Given the description of an element on the screen output the (x, y) to click on. 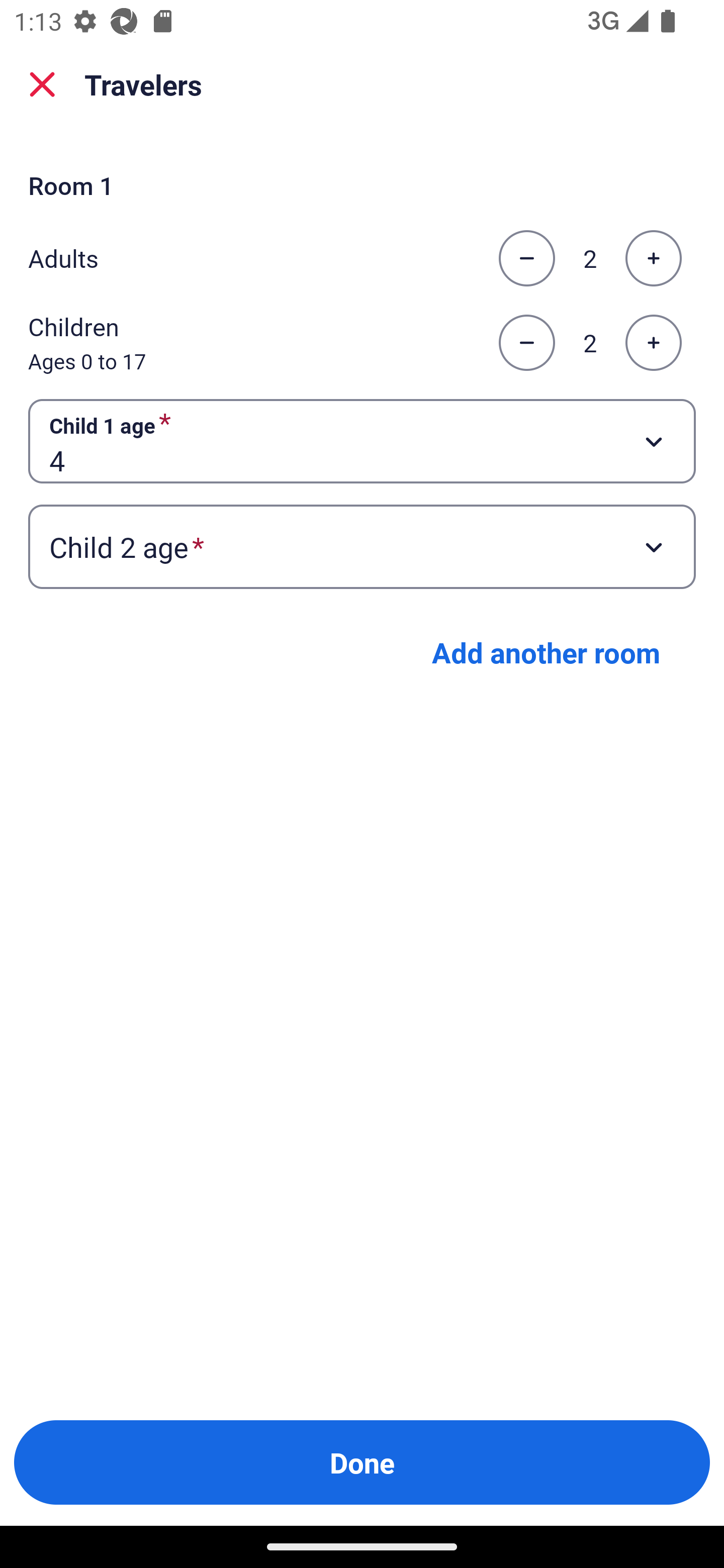
close (42, 84)
Decrease the number of adults (526, 258)
Increase the number of adults (653, 258)
Decrease the number of children (526, 343)
Increase the number of children (653, 343)
Child 1 age required Button 4 (361, 440)
Child 2 age required Button (361, 546)
Add another room (545, 651)
Done (361, 1462)
